Given the description of an element on the screen output the (x, y) to click on. 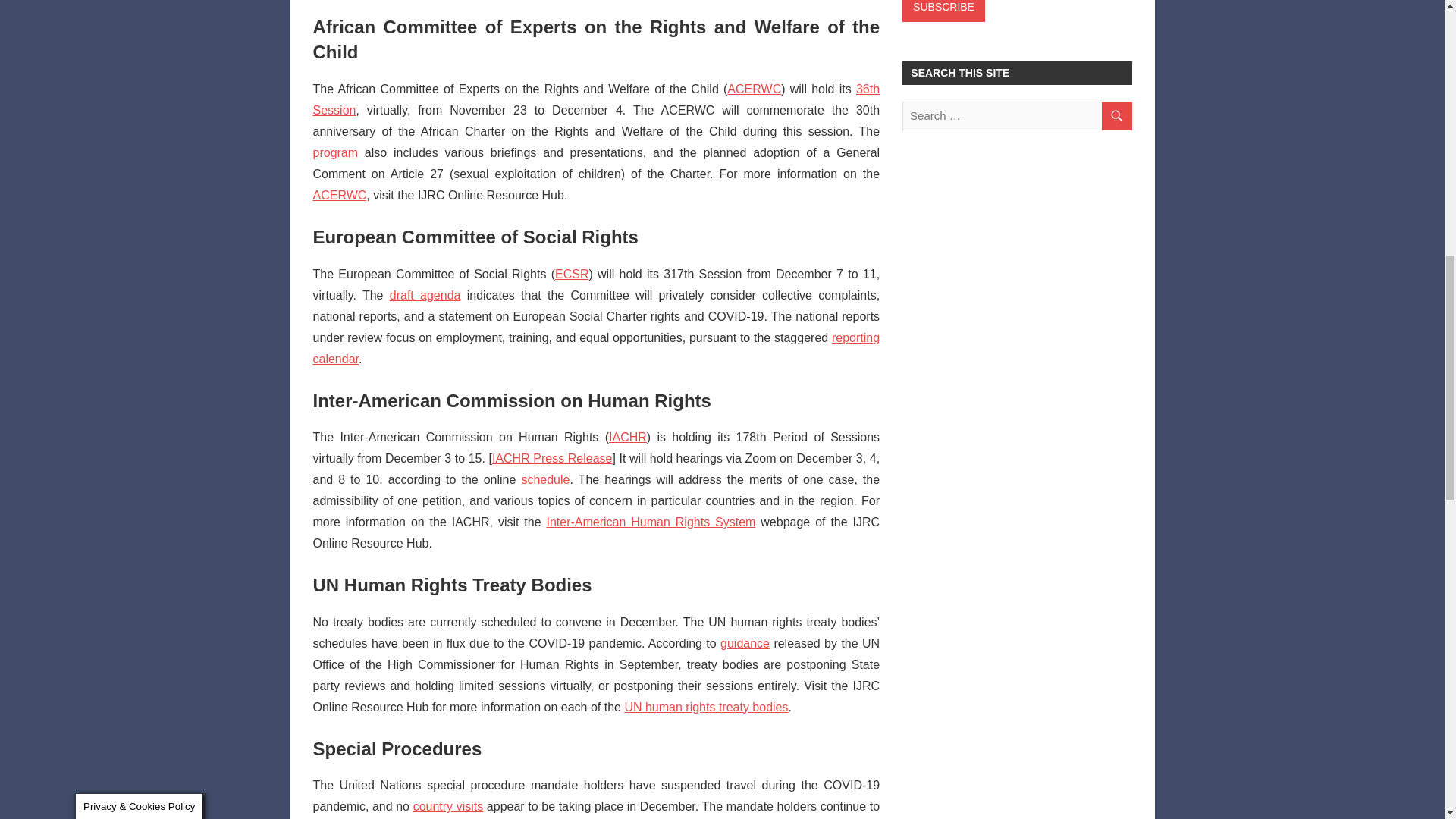
Search for: (1016, 115)
Subscribe (943, 11)
